Given the description of an element on the screen output the (x, y) to click on. 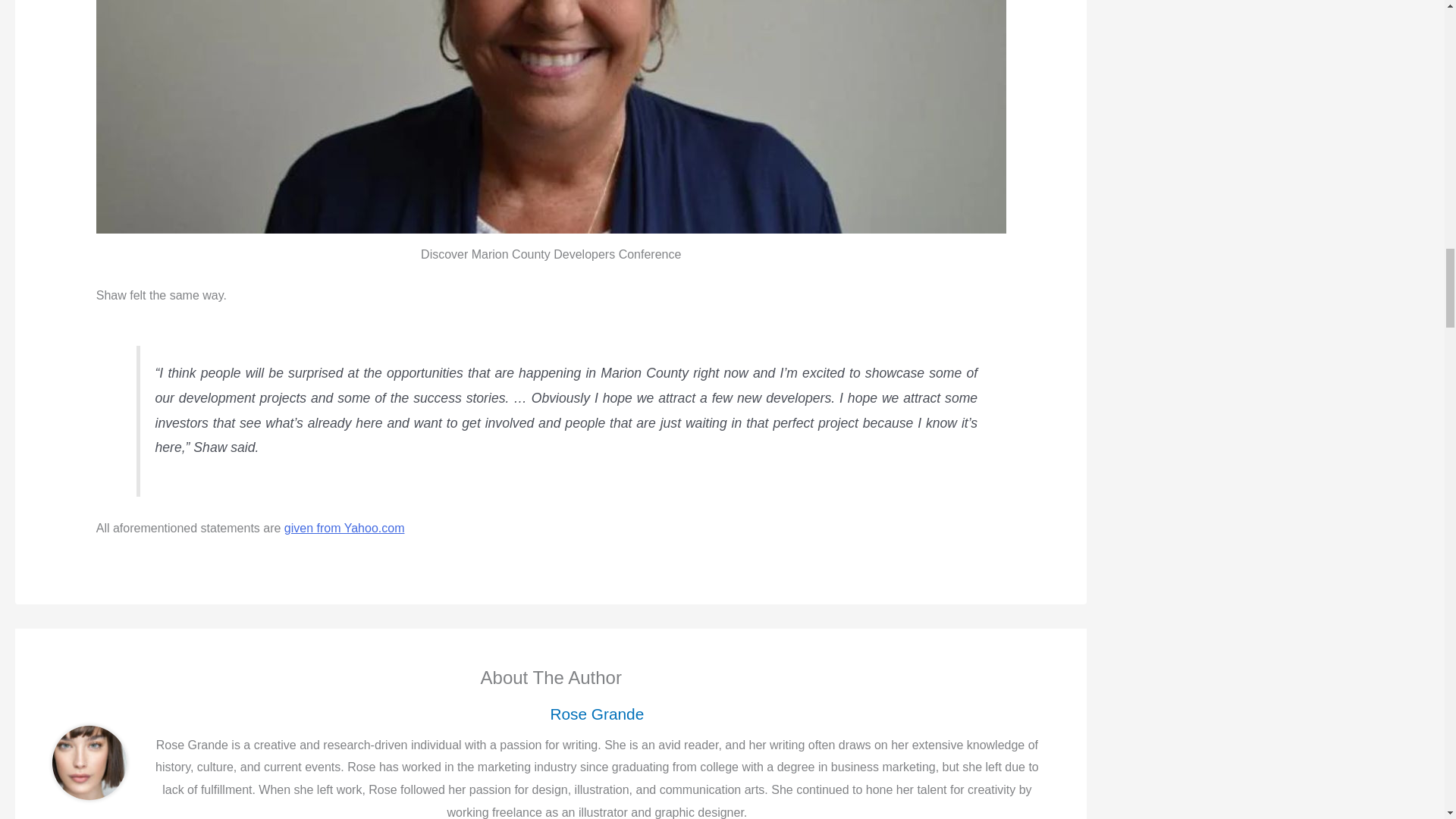
Rose Grande (595, 713)
given from Yahoo.com (343, 527)
